Given the description of an element on the screen output the (x, y) to click on. 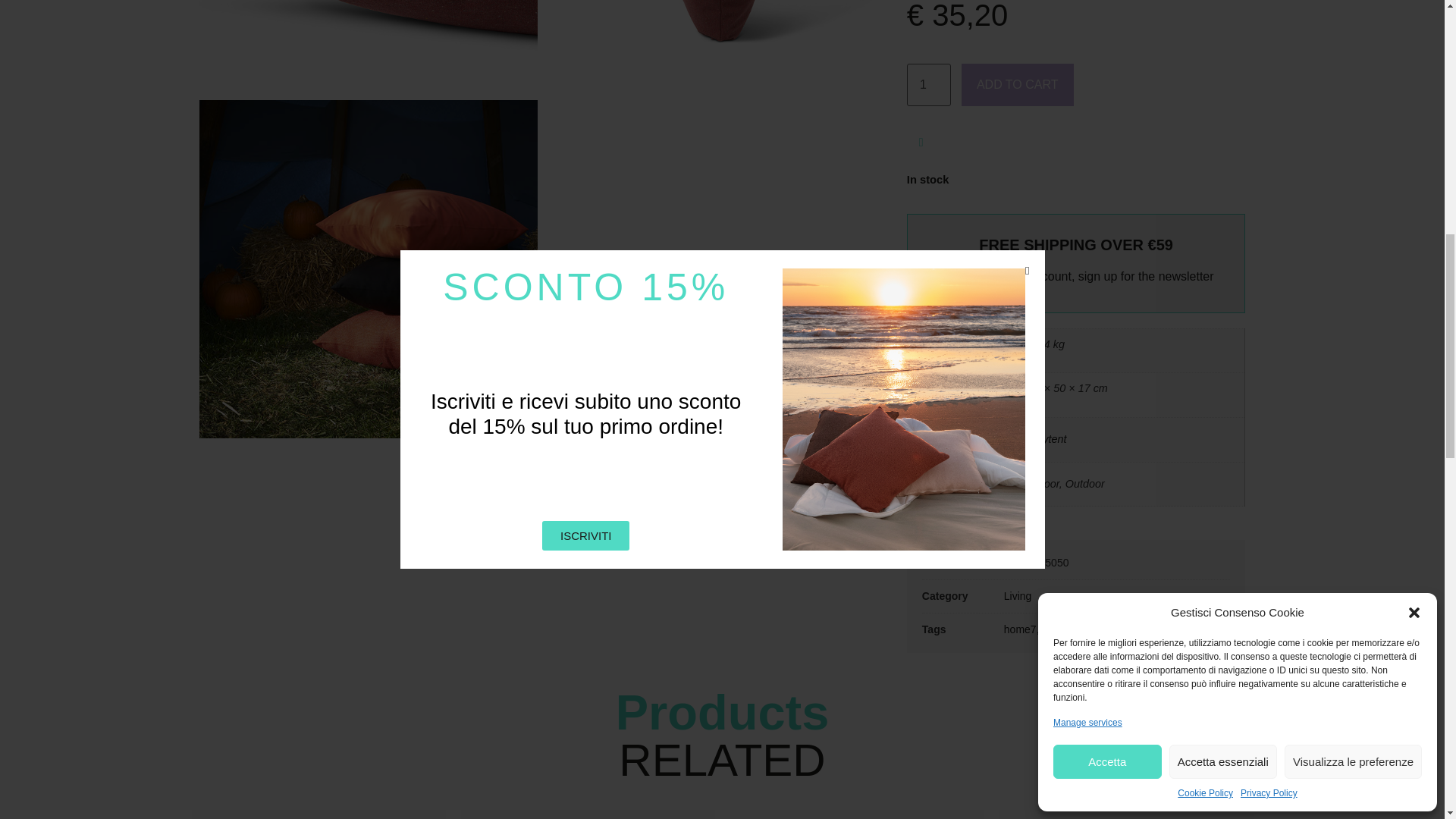
1 (928, 84)
narciso (367, 268)
